Given the description of an element on the screen output the (x, y) to click on. 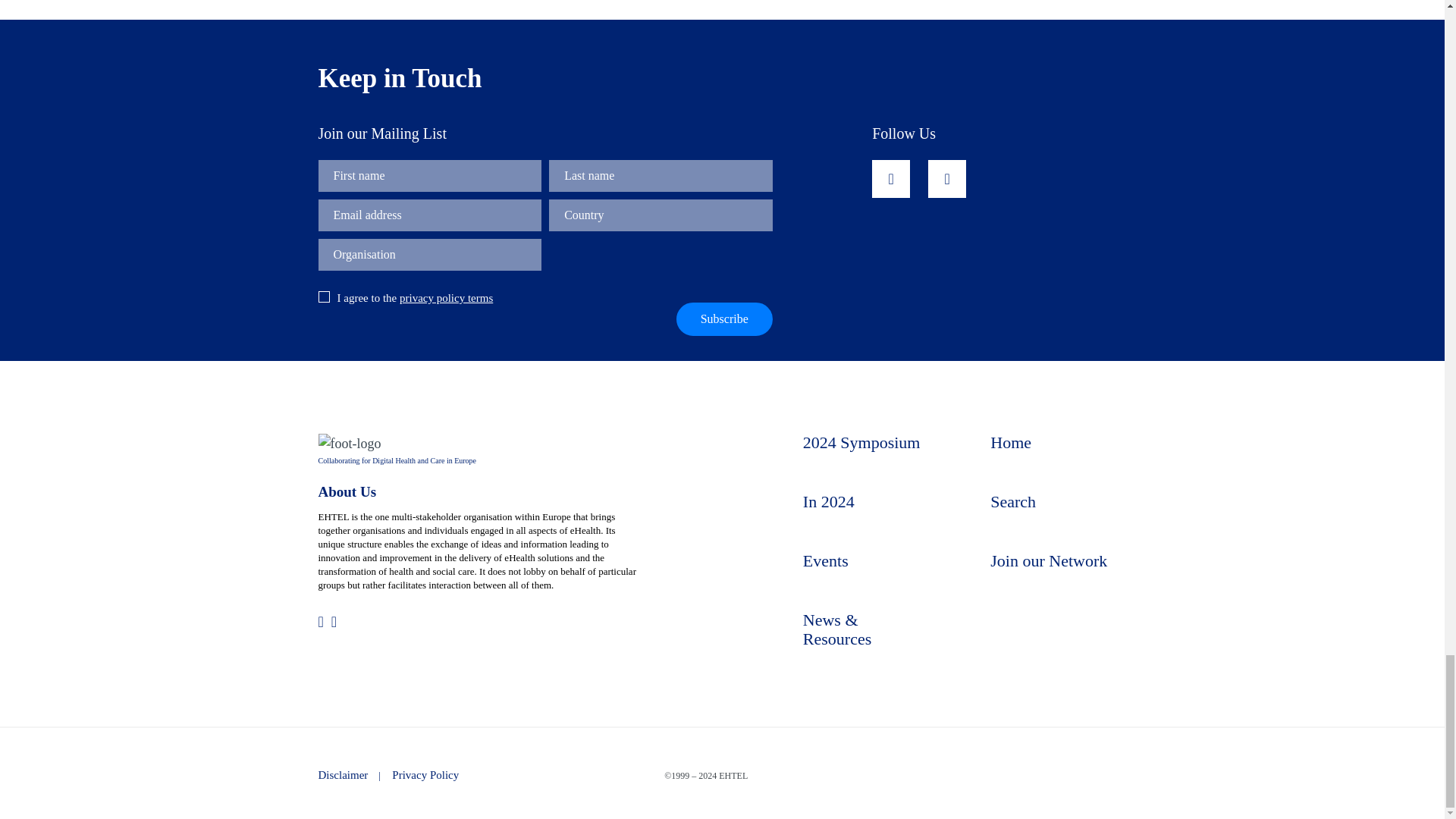
Subscribe (725, 318)
